Given the description of an element on the screen output the (x, y) to click on. 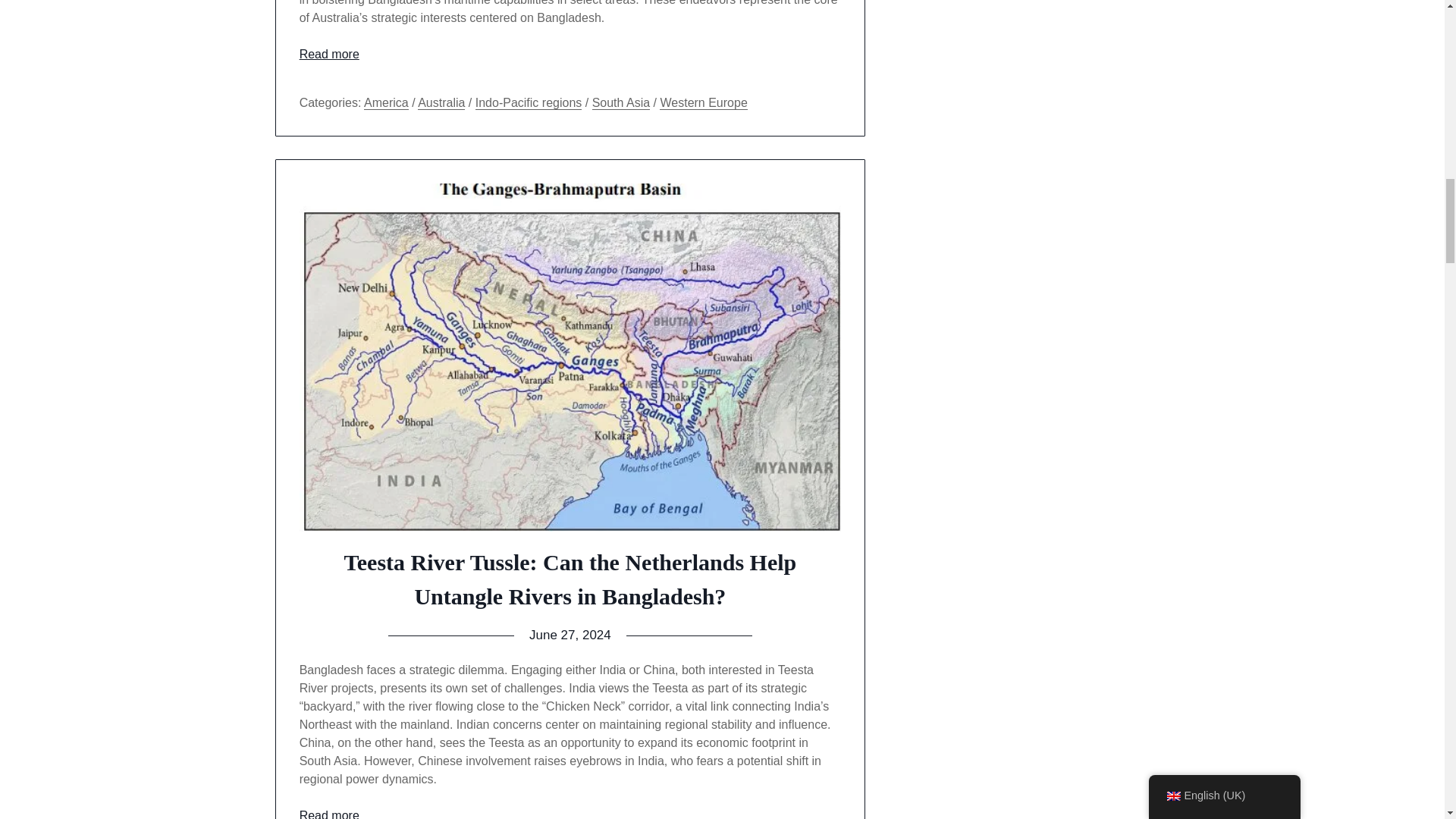
Indo-Pacific regions (529, 102)
June 27, 2024 (570, 635)
America (386, 102)
Read more (329, 53)
Read more (329, 814)
South Asia (621, 102)
Western Europe (702, 102)
Australia (440, 102)
